Given the description of an element on the screen output the (x, y) to click on. 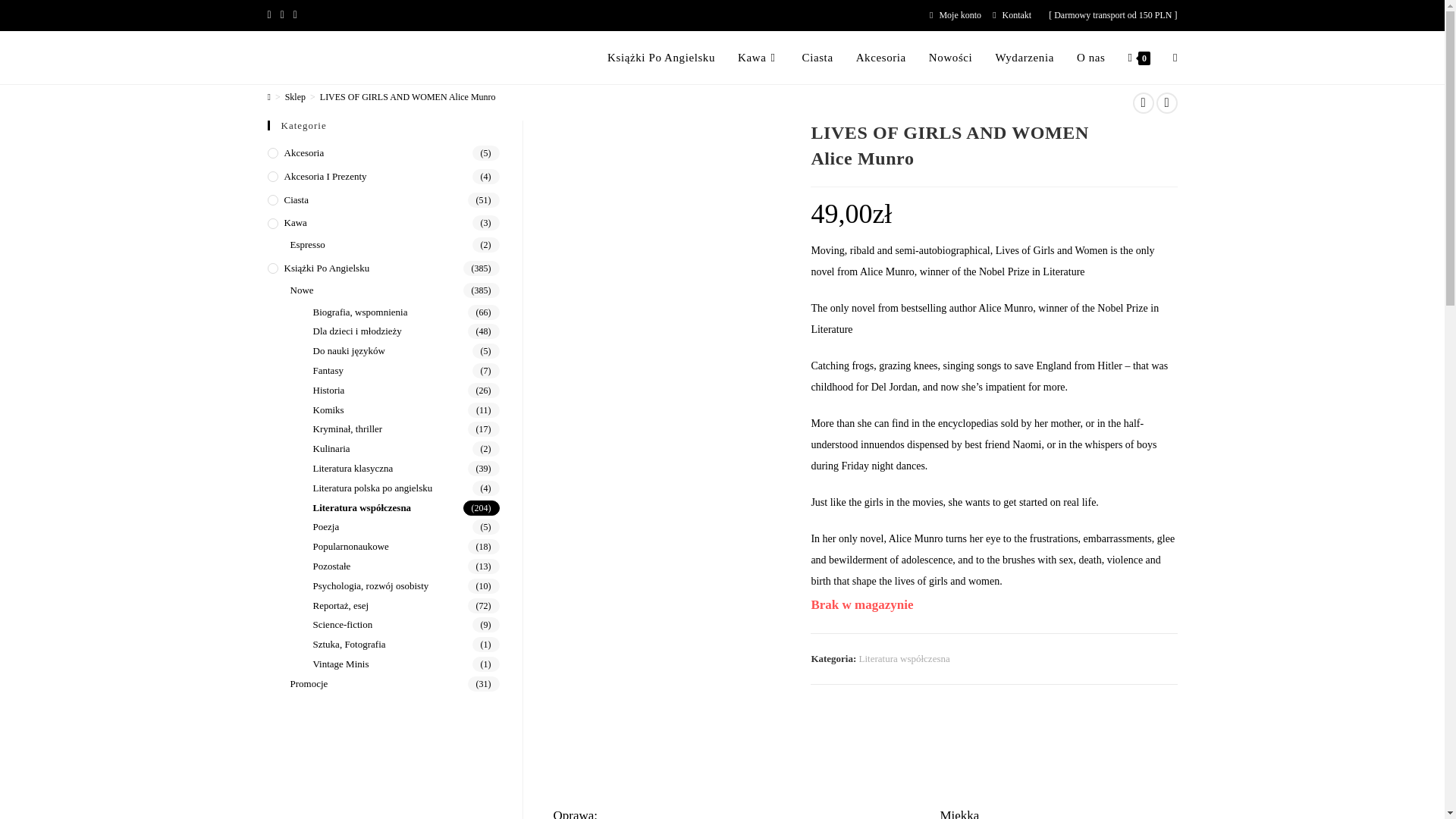
Ciasta (817, 57)
Wydarzenia (1024, 57)
Kawa (758, 57)
Kontakt (1011, 14)
LIVES OF GIRLS AND WOMEN Alice Munro (408, 96)
Akcesoria (880, 57)
O nas (1090, 57)
Sklep (295, 96)
Moje konto (955, 14)
